Given the description of an element on the screen output the (x, y) to click on. 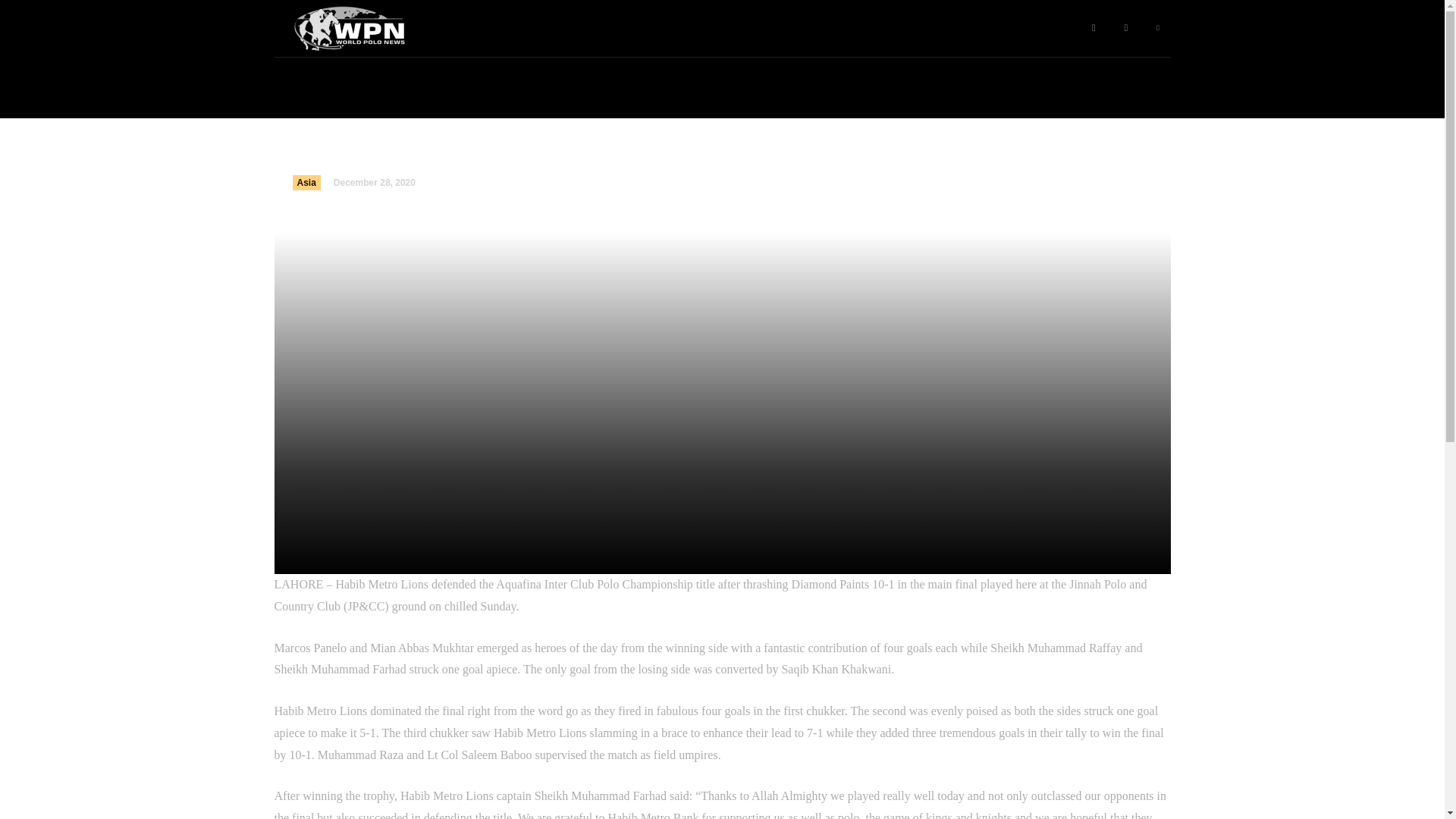
Asia (306, 182)
